Given the description of an element on the screen output the (x, y) to click on. 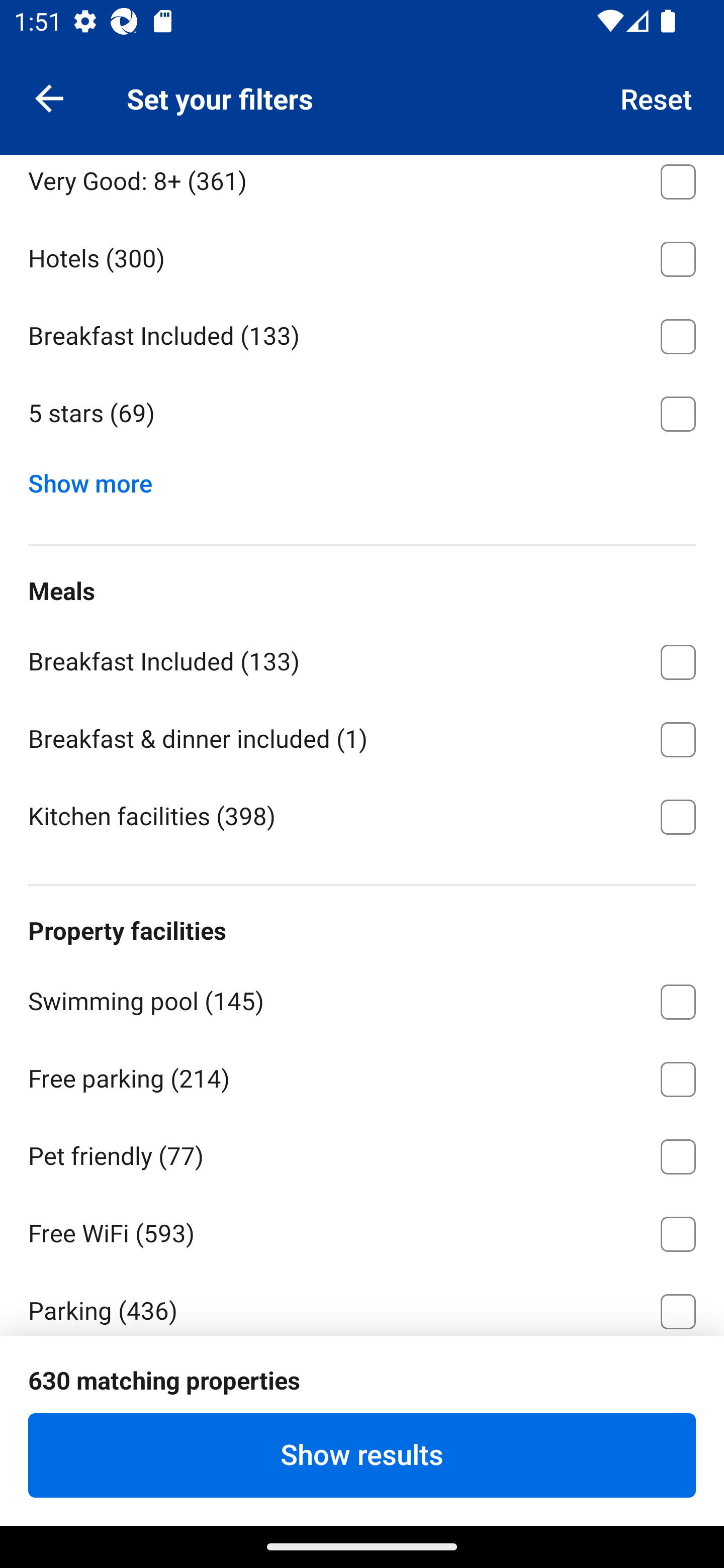
Navigate up (49, 97)
Reset (656, 97)
Apartments ⁦(268) (361, 100)
Very Good: 8+ ⁦(361) (361, 185)
Hotels ⁦(300) (361, 255)
Breakfast Included ⁦(133) (361, 332)
5 stars ⁦(69) (361, 413)
Show more (97, 478)
Breakfast Included ⁦(133) (361, 658)
Breakfast & dinner included ⁦(1) (361, 735)
Kitchen facilities ⁦(398) (361, 815)
Swimming pool ⁦(145) (361, 998)
Free parking ⁦(214) (361, 1076)
Pet friendly ⁦(77) (361, 1152)
Free WiFi ⁦(593) (361, 1230)
Parking ⁦(436) (361, 1302)
Show results (361, 1454)
